Given the description of an element on the screen output the (x, y) to click on. 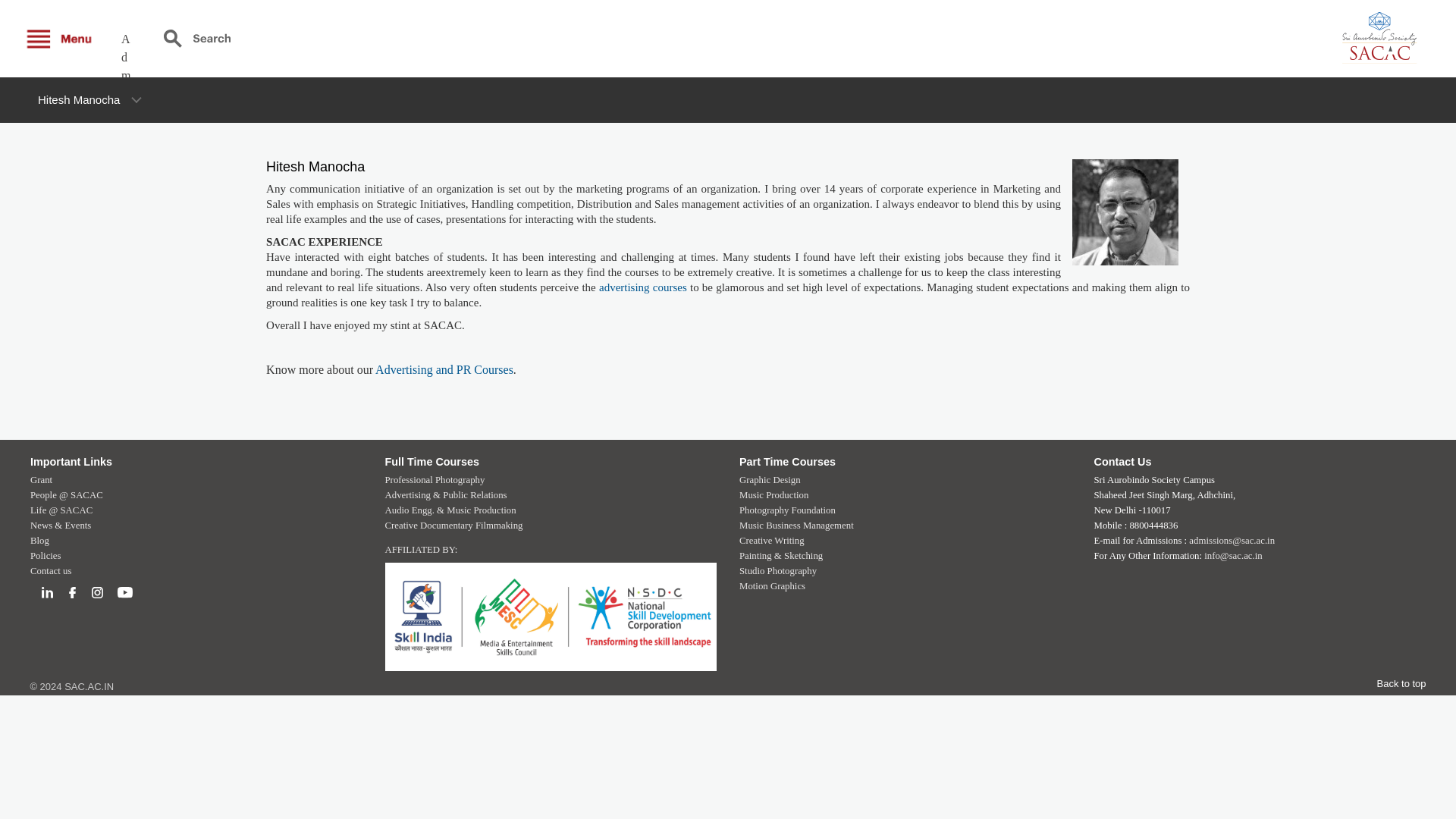
Instagram (97, 592)
Facebook (72, 592)
Graphic Design (769, 480)
Contact us (50, 570)
Hitesh Manocha (78, 99)
Linkedin (47, 592)
advertising courses (642, 287)
Advertising and PR Courses (444, 369)
Policies (45, 555)
Main menu (60, 38)
Grant (41, 480)
Blog (39, 540)
Creative Documentary Filmmaking (453, 525)
SACAC - Sri Aurobindo Society Campus (1338, 38)
Professional Photography (434, 480)
